Given the description of an element on the screen output the (x, y) to click on. 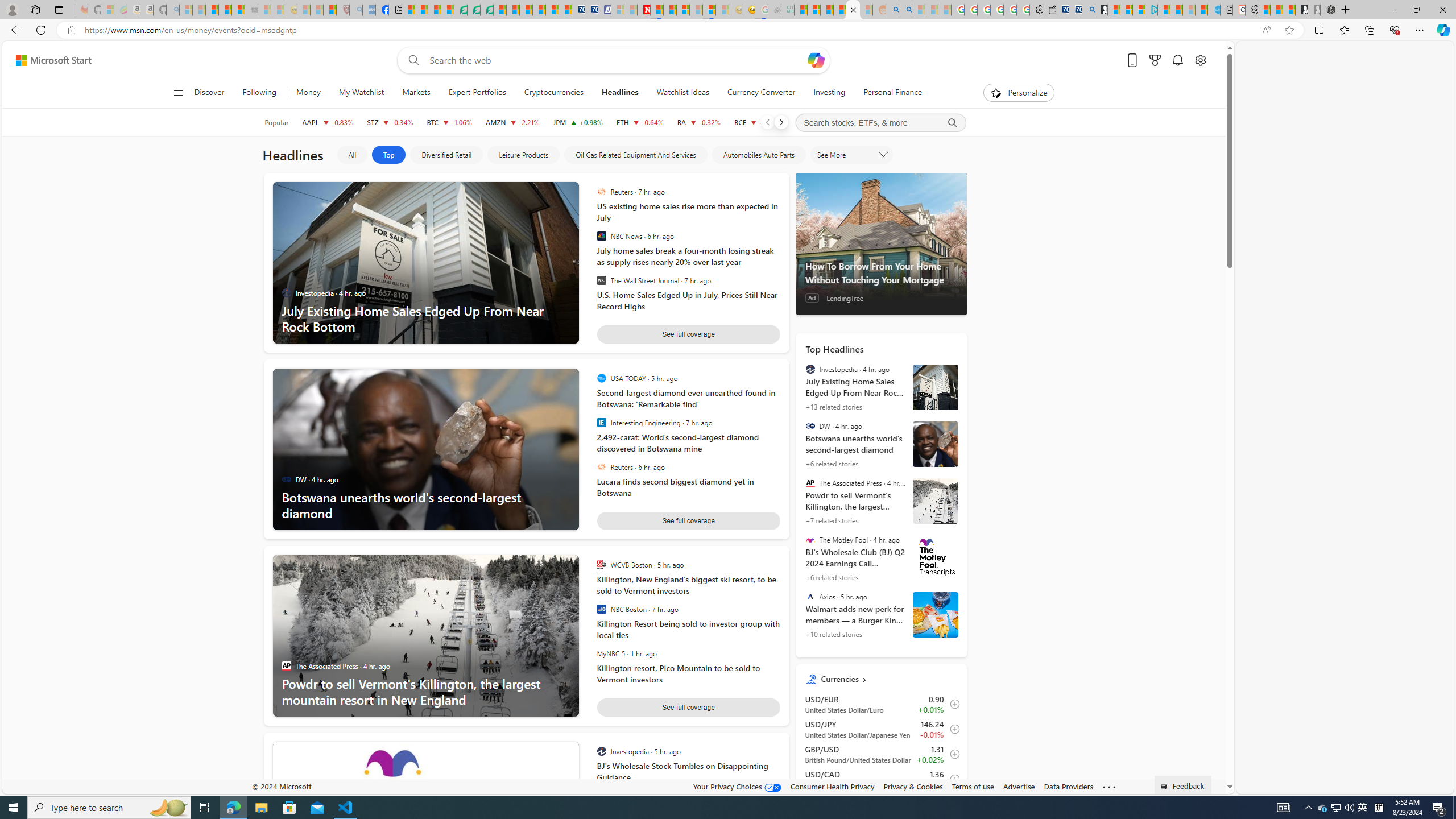
LendingTree - Compare Lenders (460, 9)
STZ CONSTELLATION BRANDS, INC. decrease 243.92 -0.82 -0.34% (389, 122)
JPM JPMORGAN CHASE & CO. increase 216.71 +2.11 +0.98% (578, 122)
Home | Sky Blue Bikes - Sky Blue Bikes (1213, 9)
14 Common Myths Debunked By Scientific Facts (669, 9)
Skip to content (49, 59)
Currency Converter (761, 92)
NCL Adult Asthma Inhaler Choice Guideline - Sleeping (369, 9)
BA THE BOEING COMPANY decrease 172.87 -0.56 -0.32% (698, 122)
Open Copilot (815, 59)
